Given the description of an element on the screen output the (x, y) to click on. 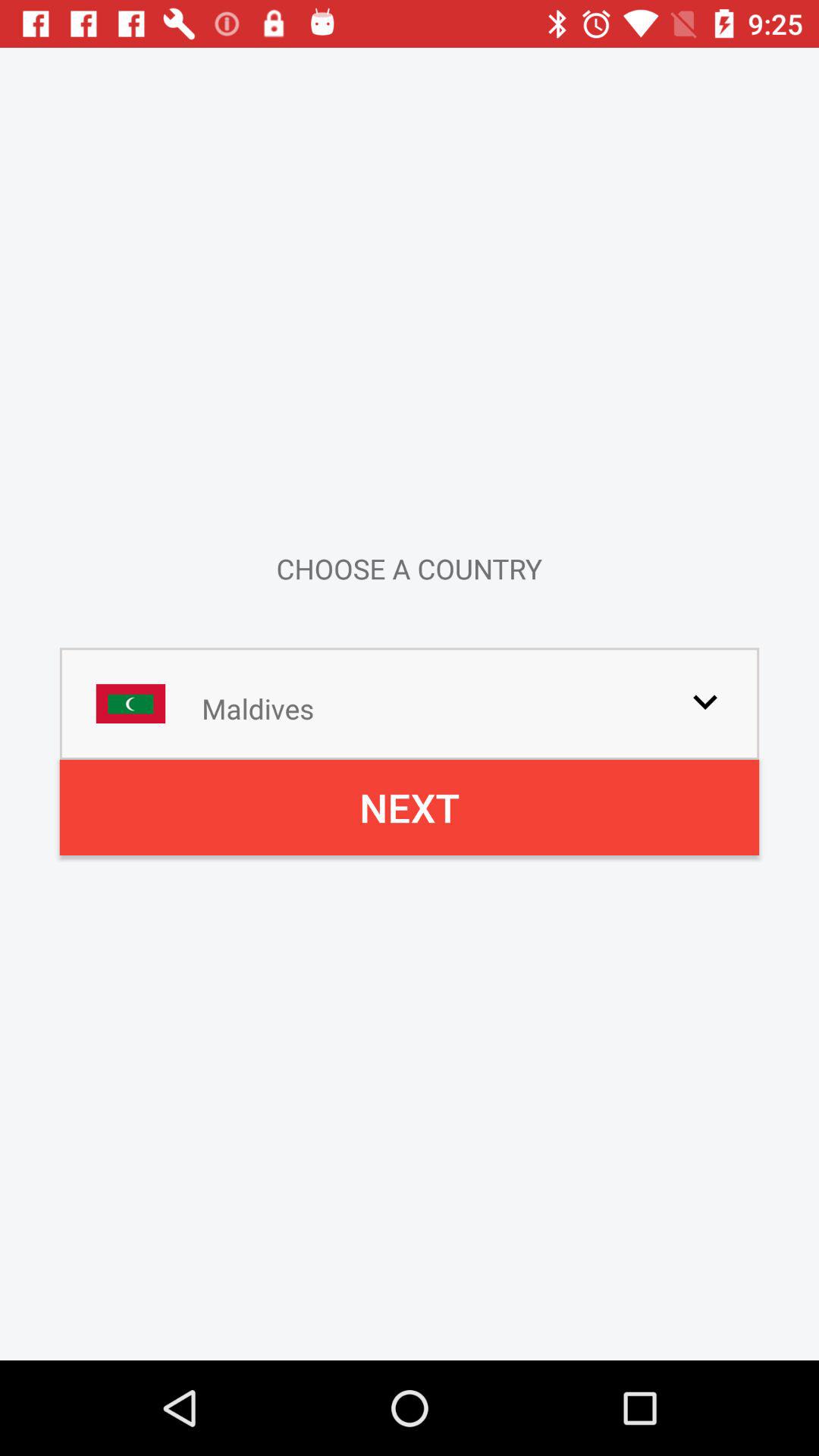
swipe until the next icon (409, 807)
